Given the description of an element on the screen output the (x, y) to click on. 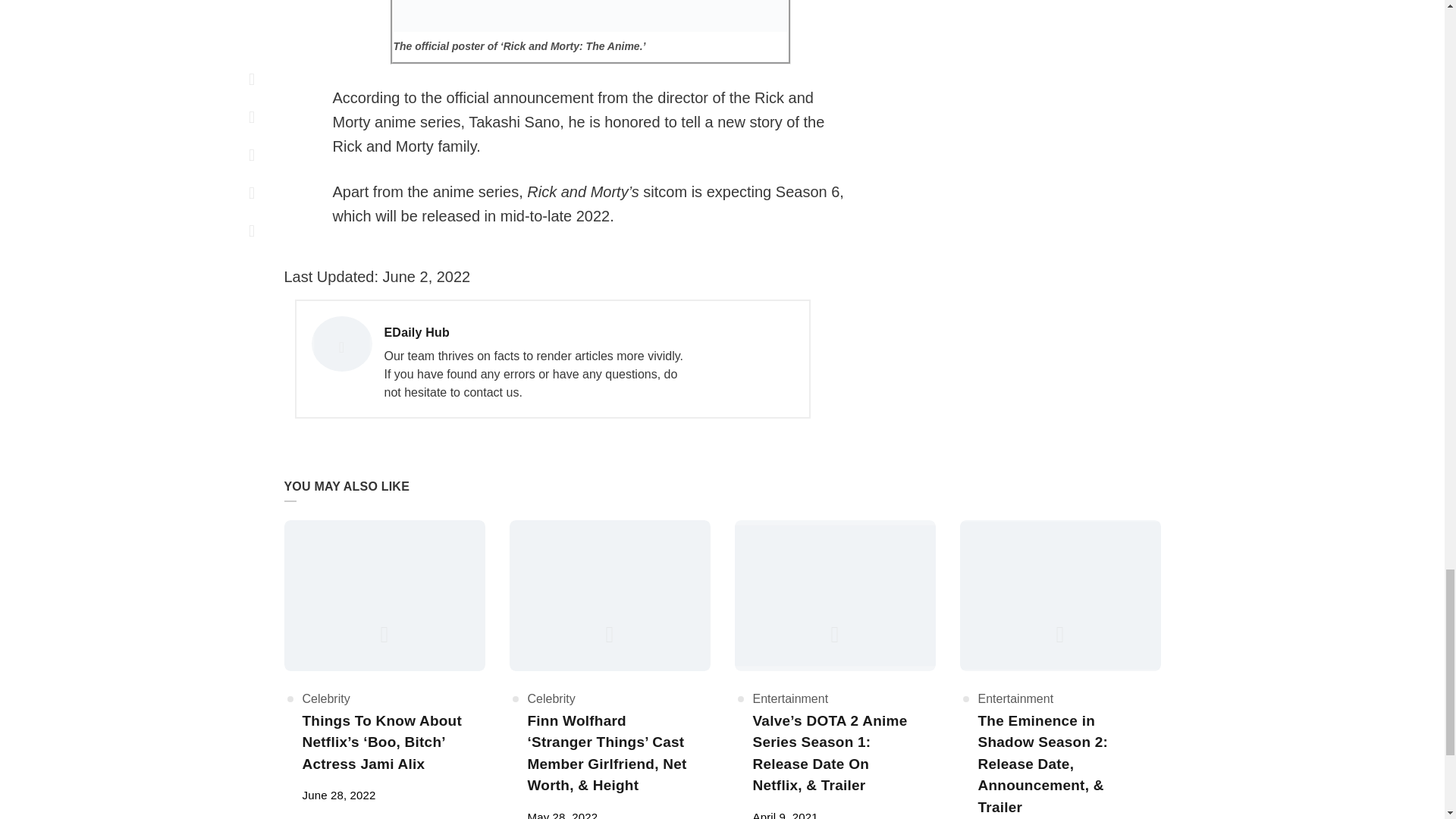
June 2, 2022 (535, 333)
May 28, 2022 (424, 276)
April 9, 2021 (562, 814)
June 28, 2022 (784, 814)
June 28, 2022 (338, 794)
June 2, 2022 (338, 794)
Celebrity (424, 276)
